Given the description of an element on the screen output the (x, y) to click on. 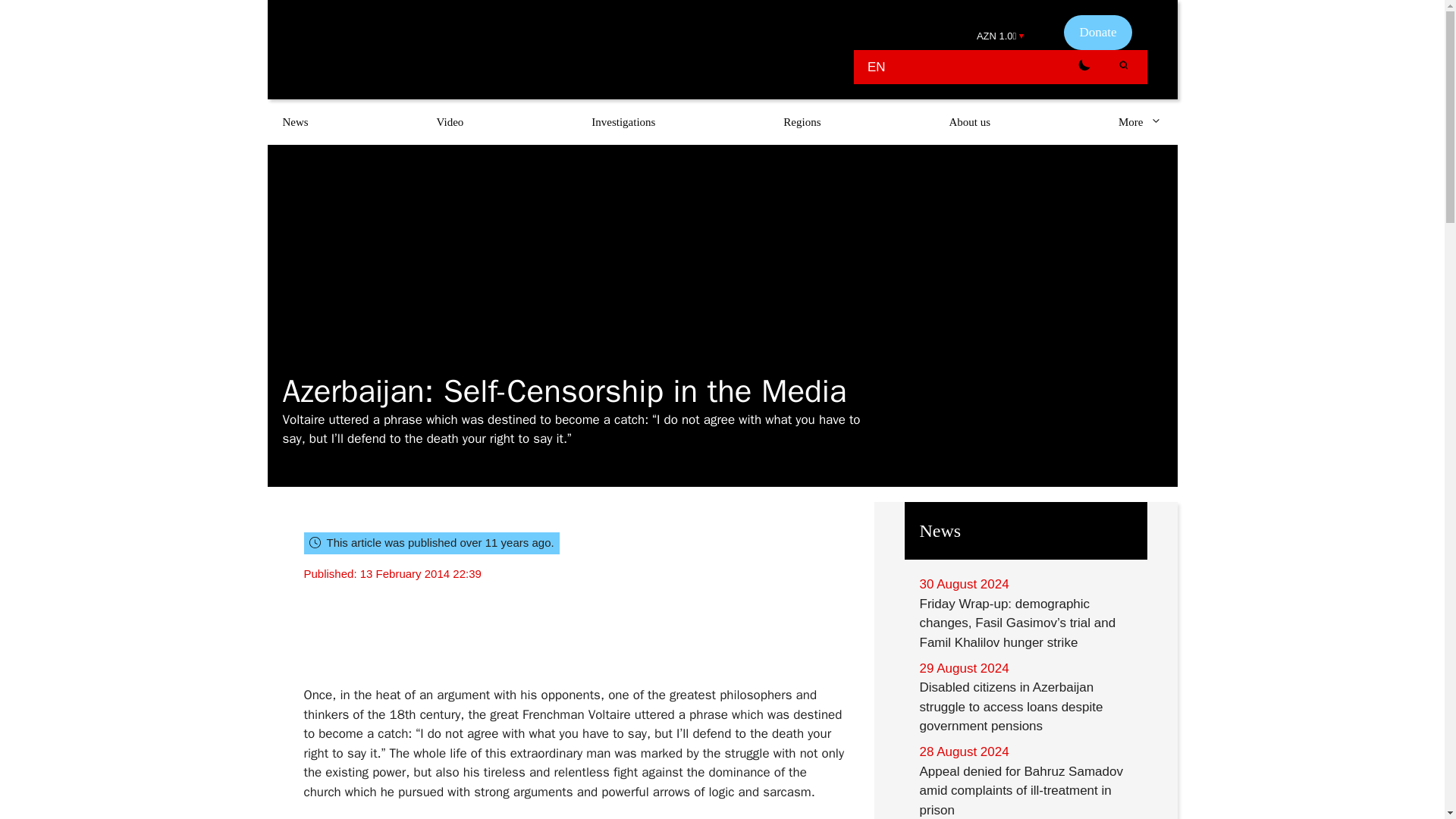
EN (876, 66)
Video (450, 121)
News (294, 121)
Donate (1097, 32)
Investigations (622, 121)
